Given the description of an element on the screen output the (x, y) to click on. 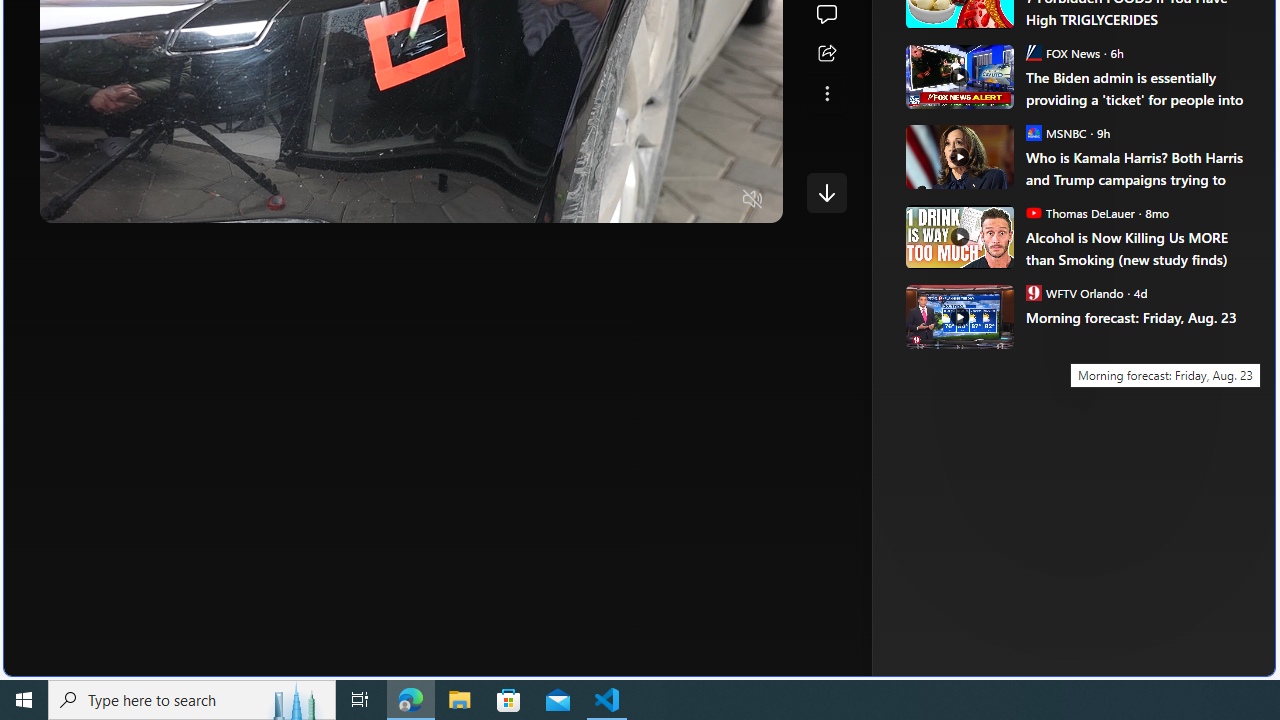
Progress Bar (411, 174)
Unmute (753, 200)
Morning forecast: Friday, Aug. 23 (1136, 317)
Captions (675, 200)
Thomas DeLauer Thomas DeLauer (1080, 212)
Share this story (826, 53)
